Given the description of an element on the screen output the (x, y) to click on. 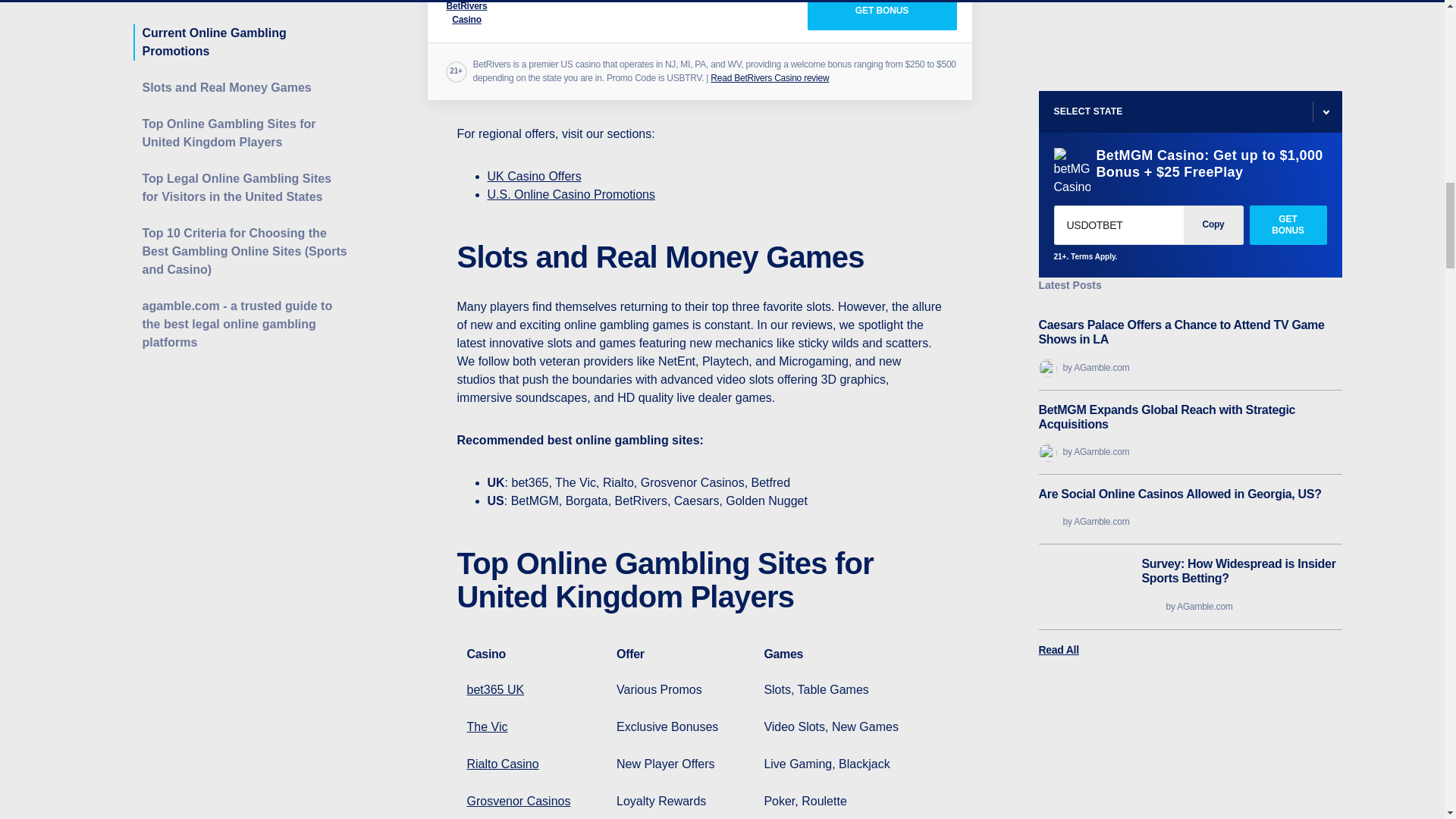
BetRivers Casino NJ (881, 15)
